Given the description of an element on the screen output the (x, y) to click on. 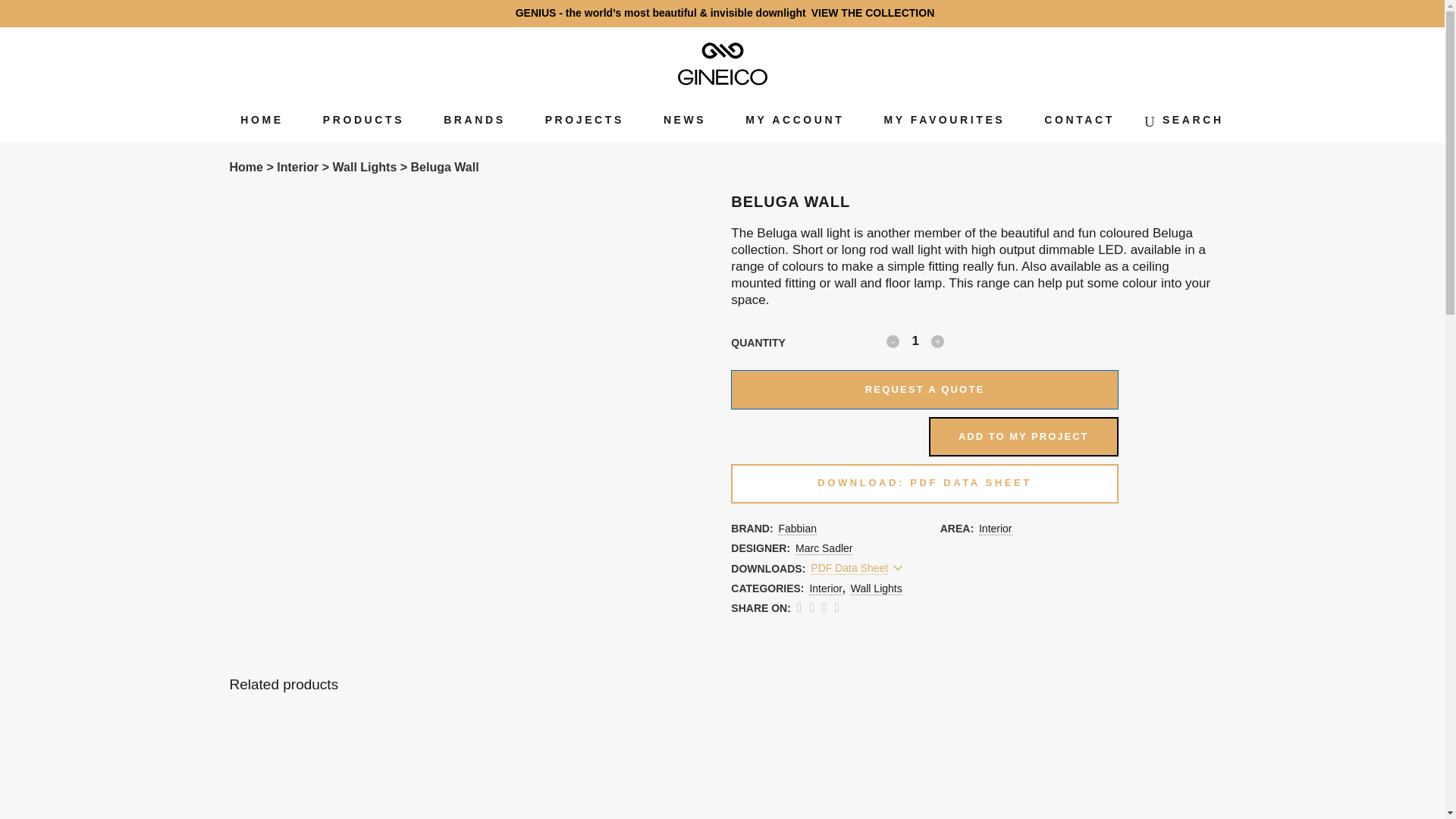
PRODUCTS (362, 119)
- (892, 341)
VISIT GINEICO MARINE (1239, 12)
HOME (261, 119)
1 (914, 340)
